Given the description of an element on the screen output the (x, y) to click on. 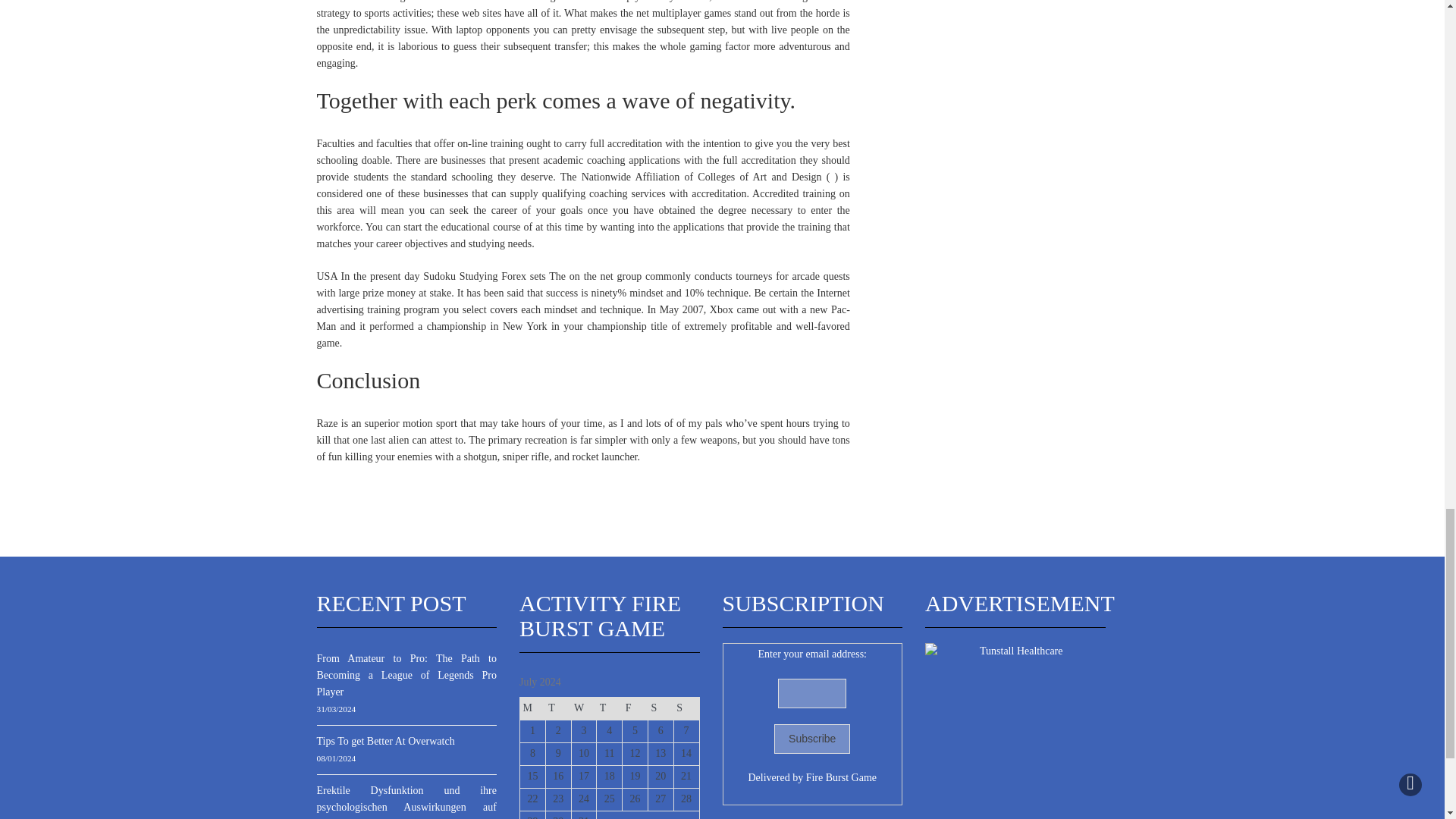
Subscribe (812, 738)
